Given the description of an element on the screen output the (x, y) to click on. 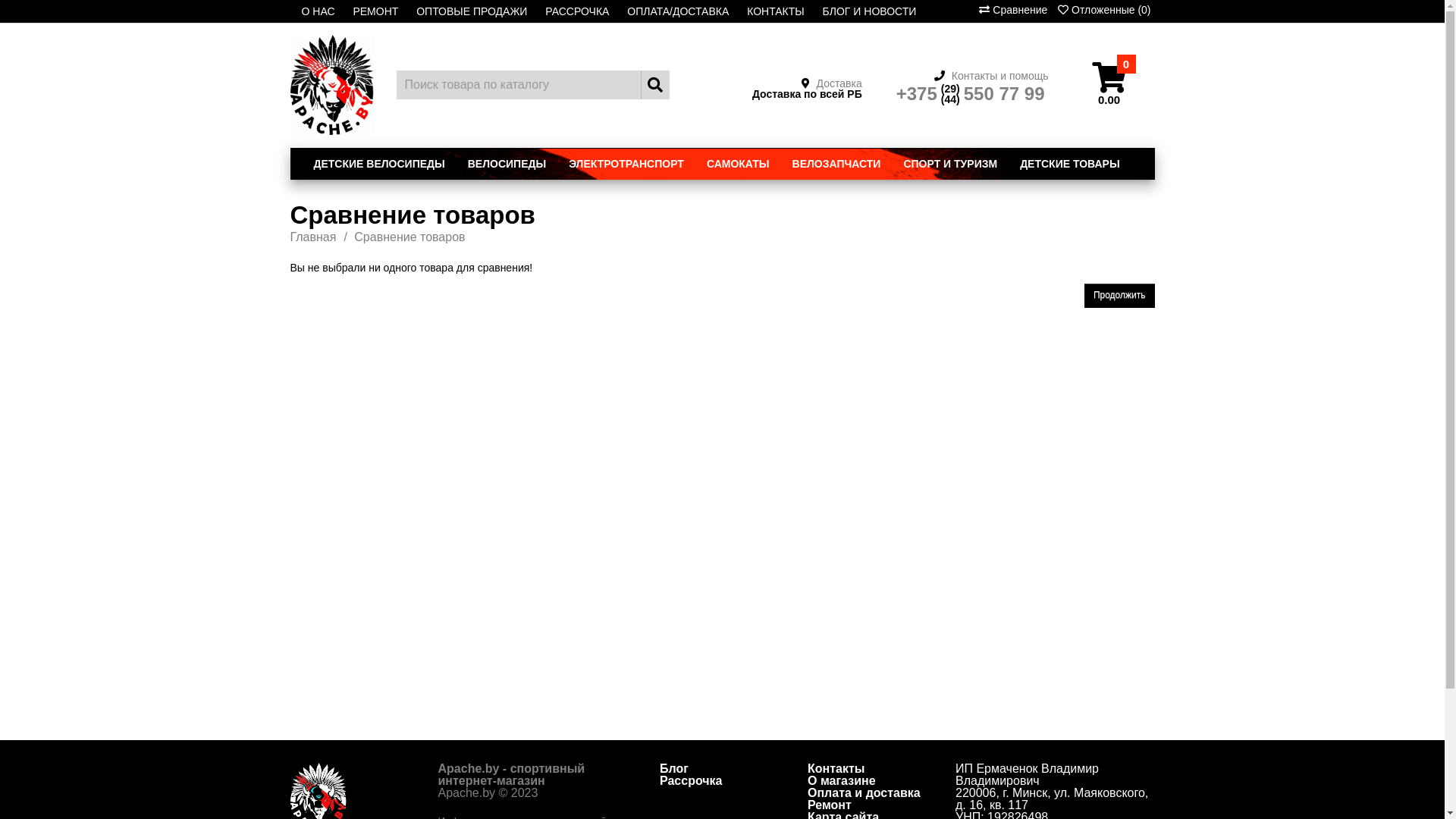
https://apache.by/ Element type: hover (331, 84)
0
0.00 Element type: text (1108, 84)
